Given the description of an element on the screen output the (x, y) to click on. 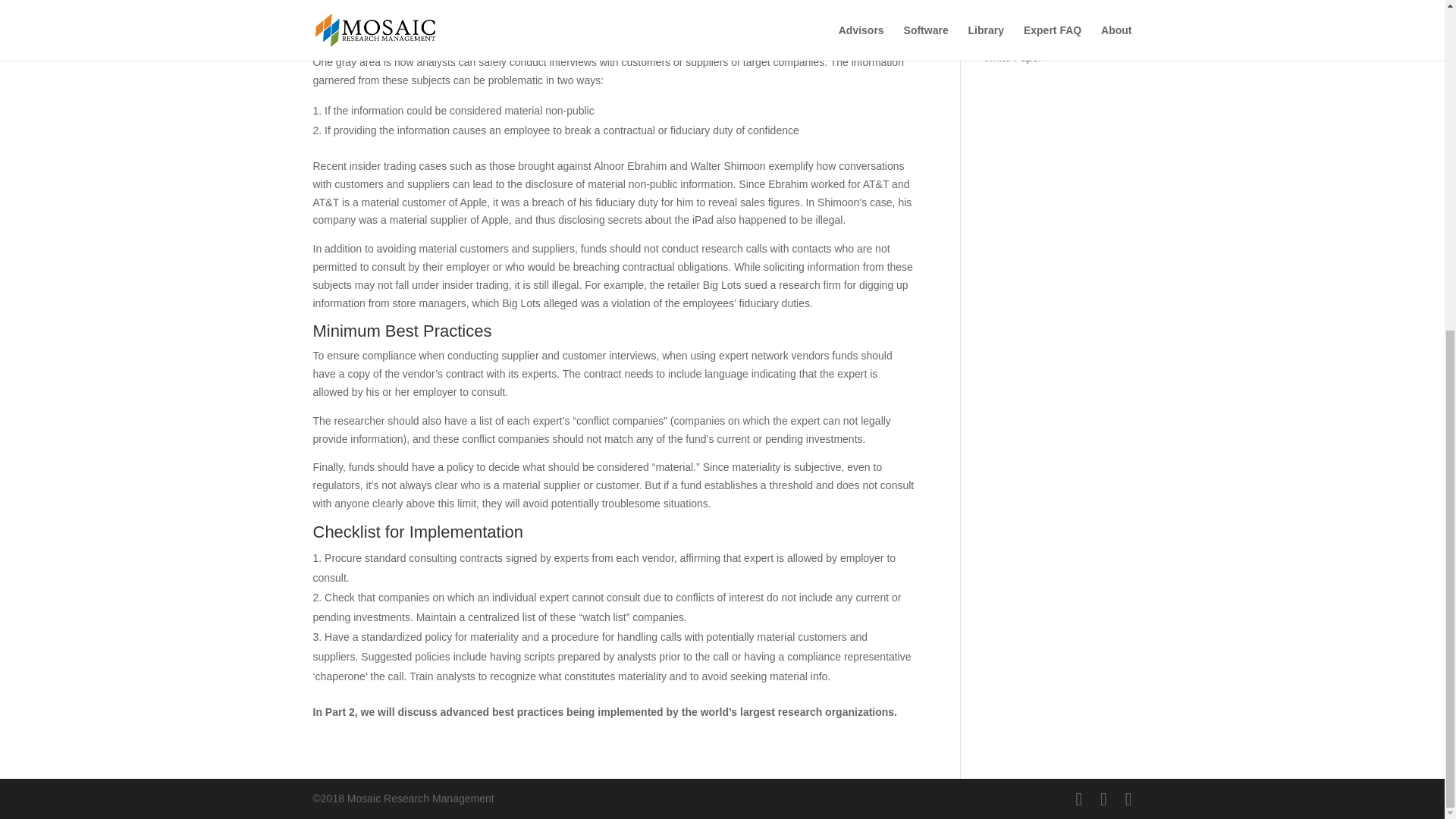
Education (1007, 10)
White Paper (1013, 57)
Webinar Replay (1021, 33)
